Given the description of an element on the screen output the (x, y) to click on. 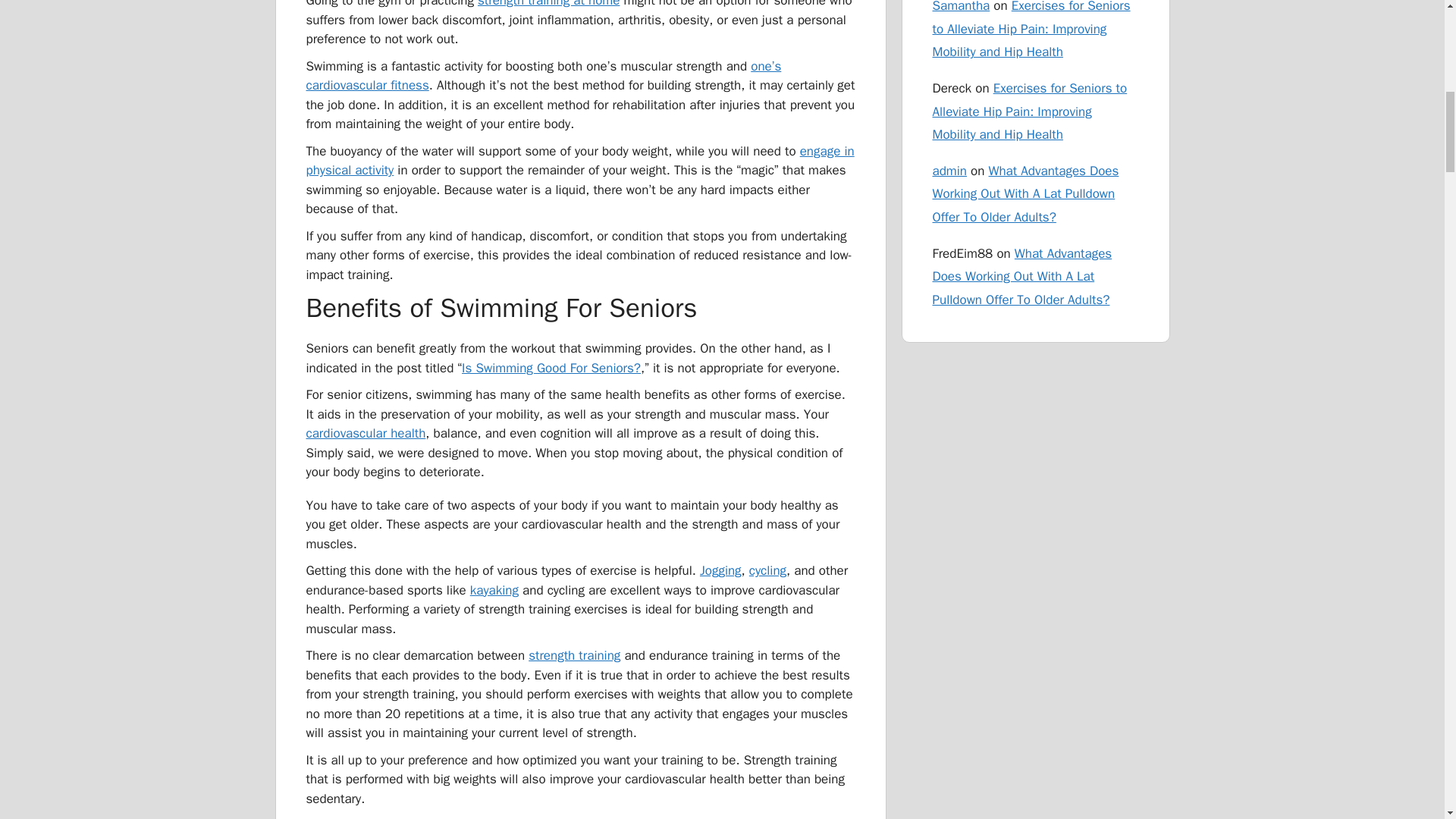
strength training at home (548, 4)
engage in physical activity (579, 161)
cycling (767, 570)
cardiovascular health (365, 433)
Is Swimming Good For Seniors? (550, 367)
kayaking (494, 590)
strength training (574, 655)
Jogging (720, 570)
